Given the description of an element on the screen output the (x, y) to click on. 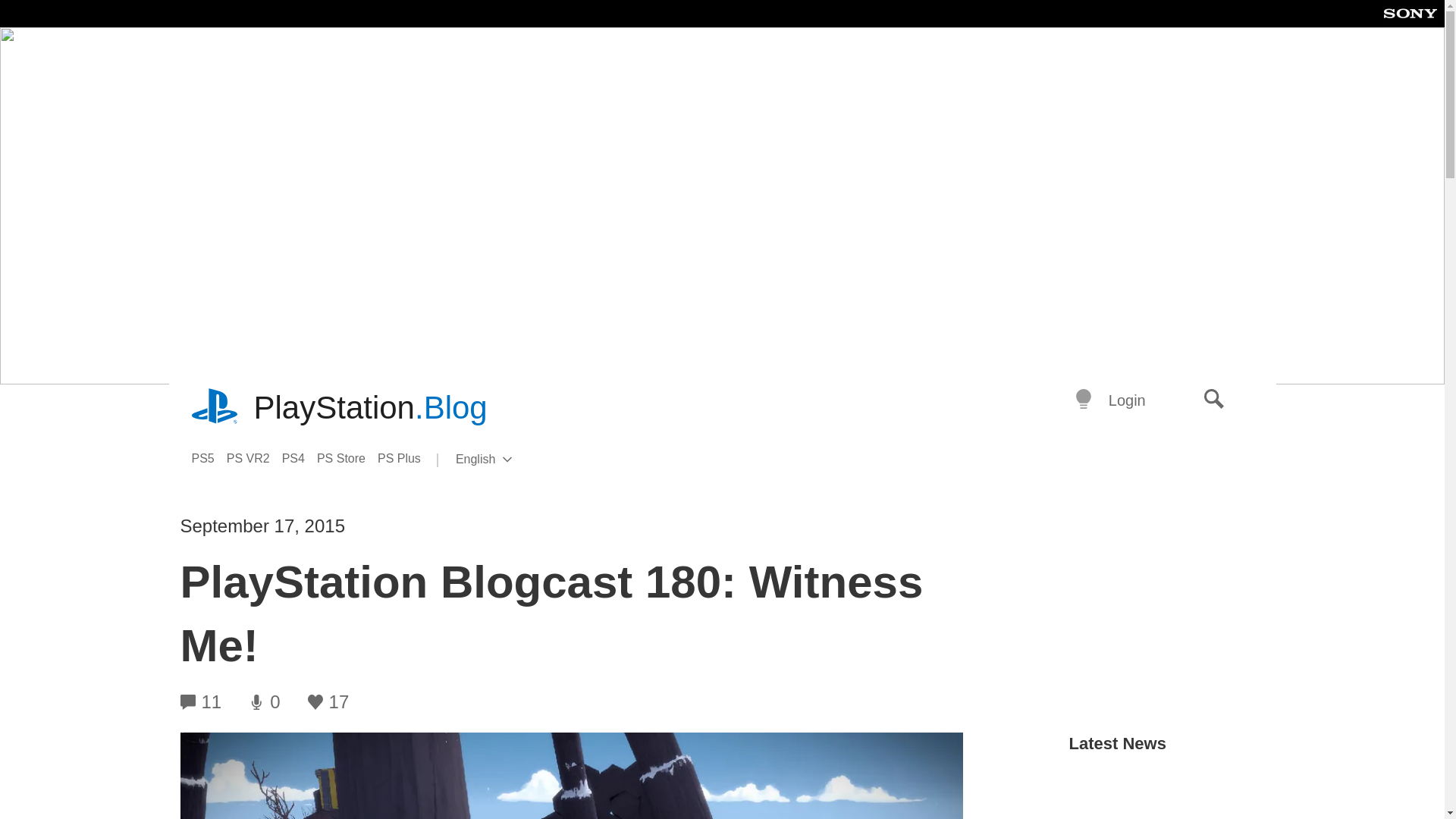
playstation.com (215, 408)
PlayStation.Blog (369, 407)
PS4 (299, 458)
Login (1126, 400)
PS VR2 (254, 458)
PS Plus (404, 458)
Search (1214, 400)
PS5 (207, 458)
PS Store (347, 458)
